Given the description of an element on the screen output the (x, y) to click on. 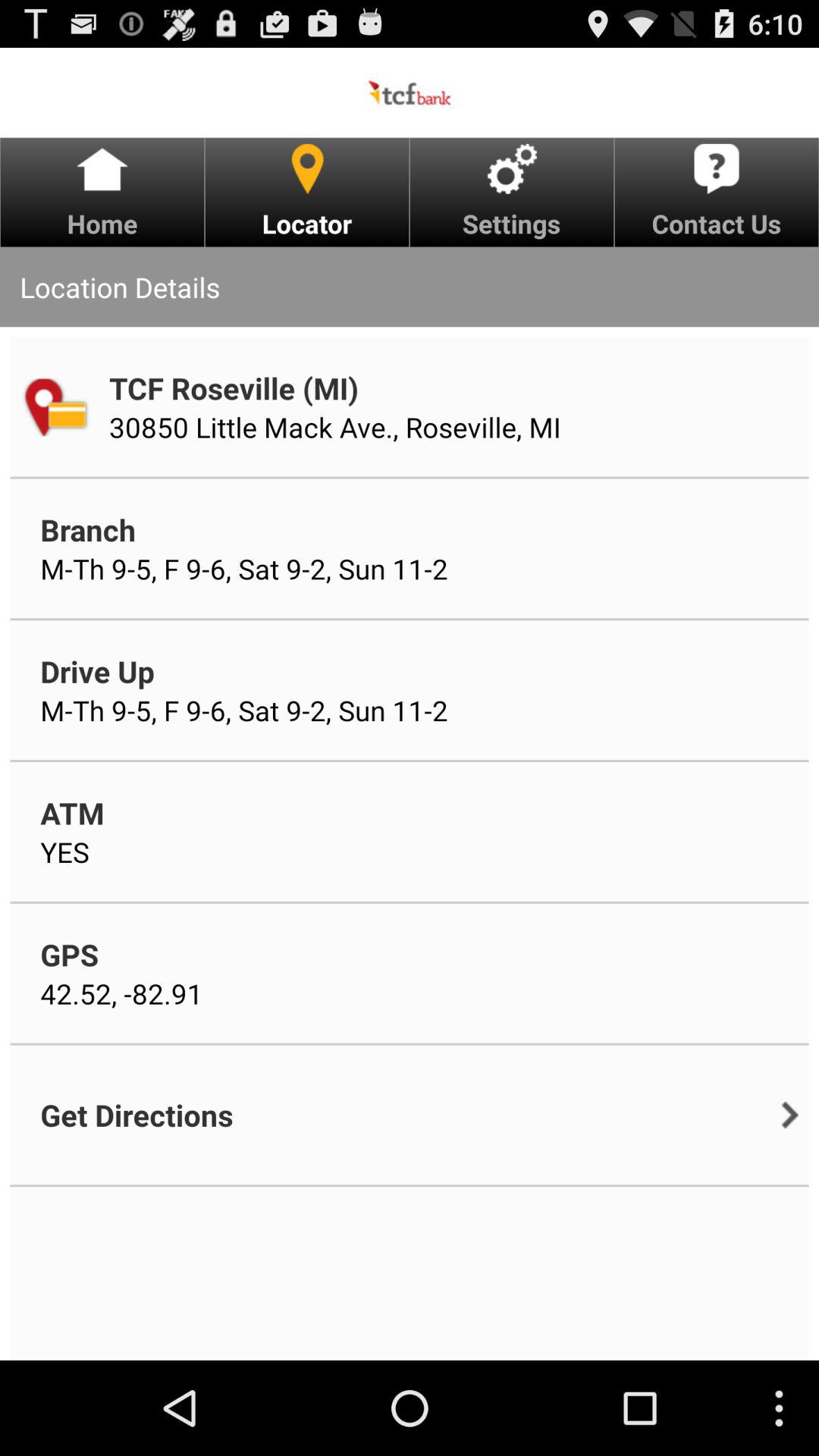
turn off the drive up icon (97, 671)
